Given the description of an element on the screen output the (x, y) to click on. 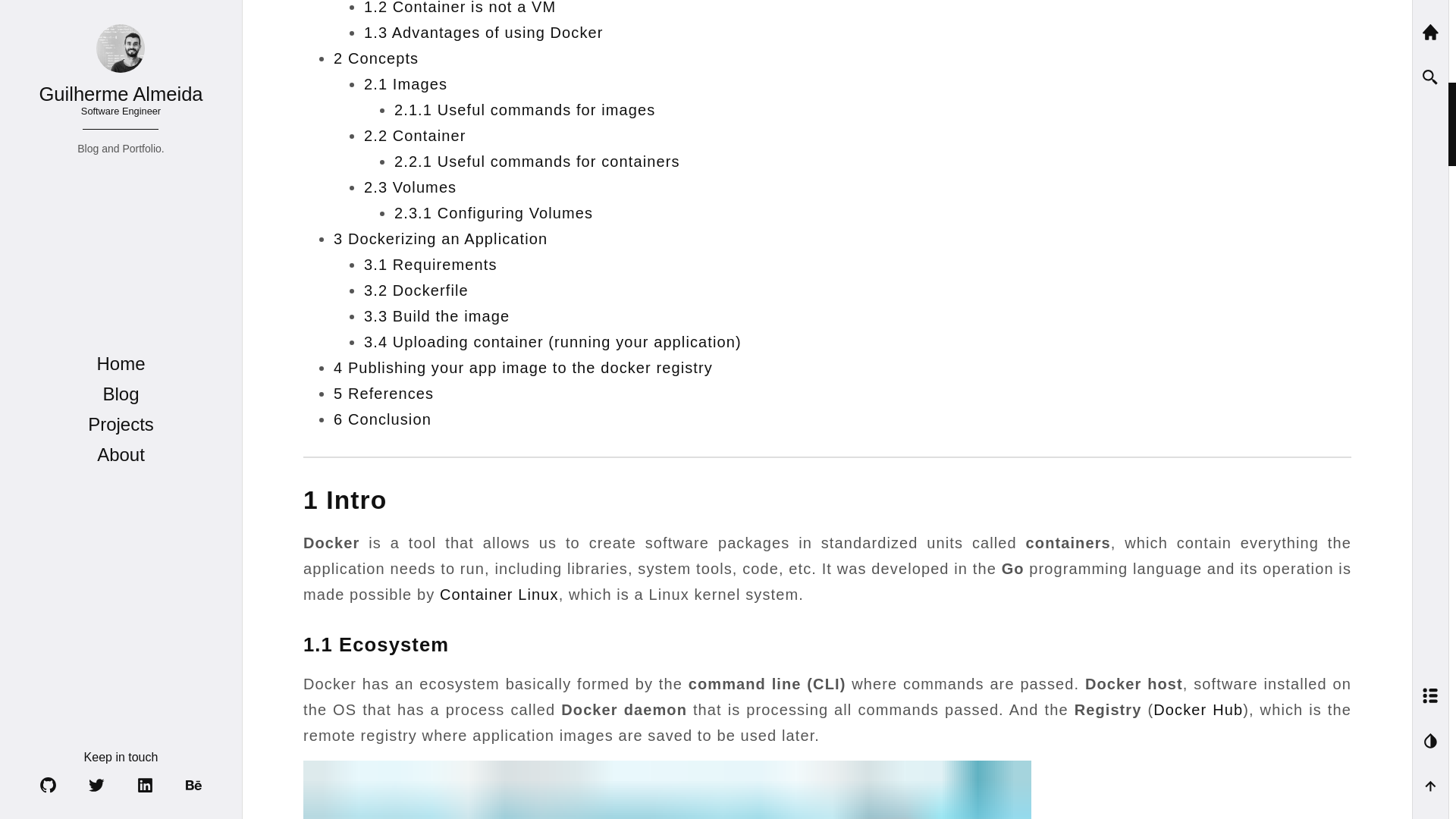
2.1 Images (405, 84)
3.1 Requirements (430, 264)
6 Conclusion (381, 419)
Container Linux (499, 594)
4 Publishing your app image to the docker registry (523, 367)
Docker Hub (1198, 709)
1.2 Container is not a VM (460, 7)
2.2 Container (414, 135)
2.2.1 Useful commands for containers (536, 161)
3.3 Build the image (436, 315)
